Given the description of an element on the screen output the (x, y) to click on. 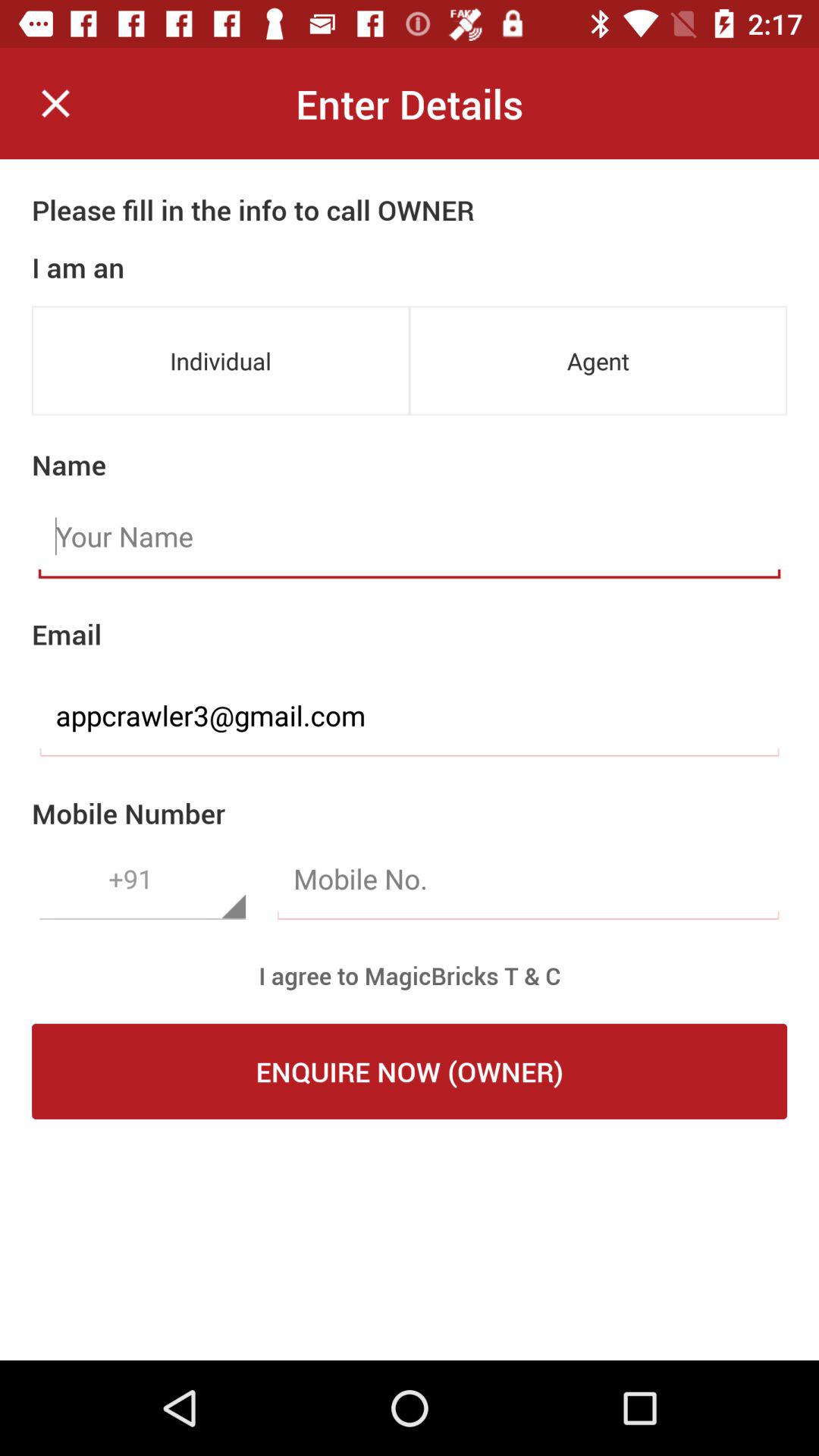
write your name (409, 537)
